Given the description of an element on the screen output the (x, y) to click on. 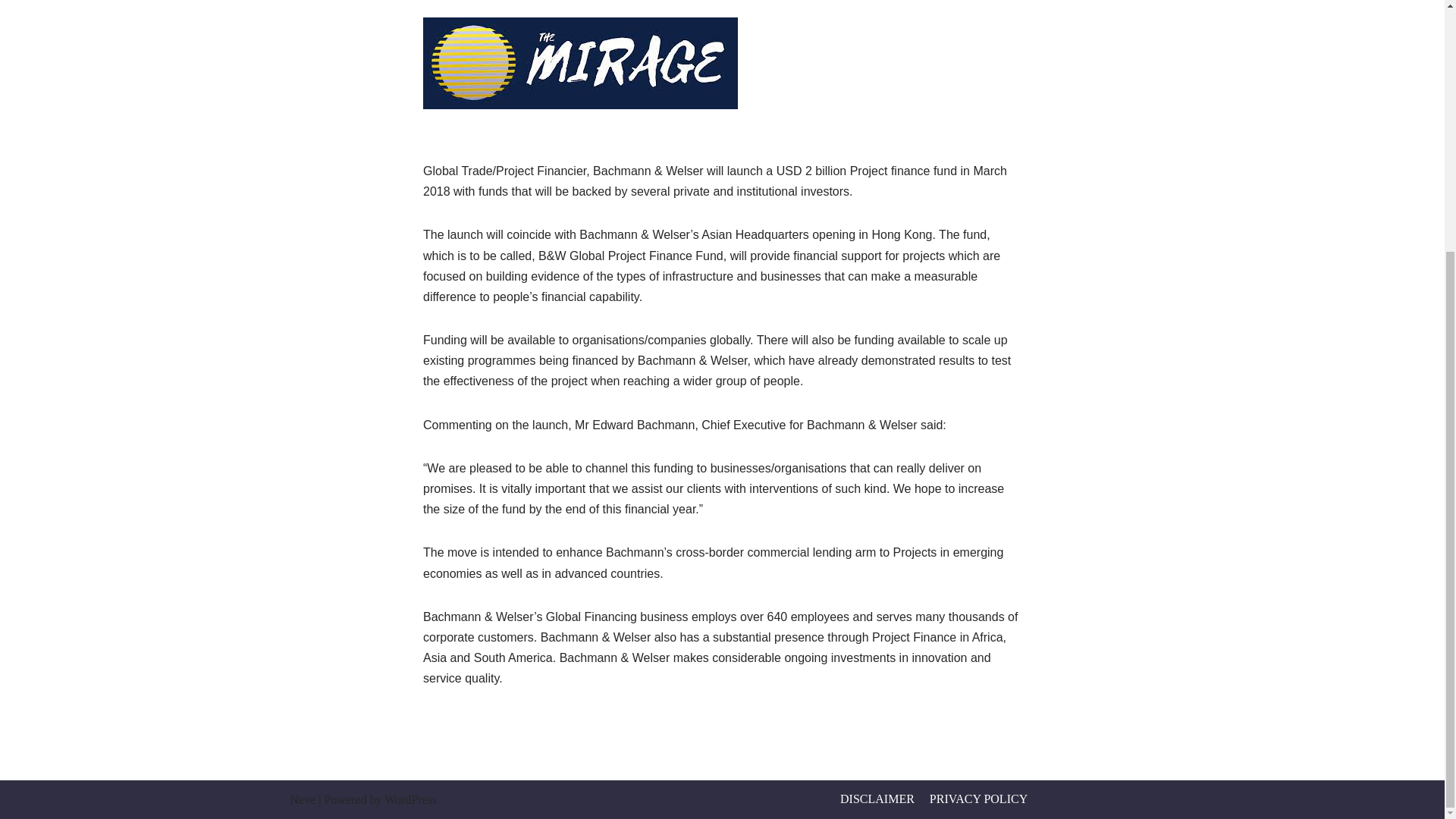
Neve (302, 799)
PRIVACY POLICY (978, 799)
WordPress (410, 799)
DISCLAIMER (877, 799)
